Given the description of an element on the screen output the (x, y) to click on. 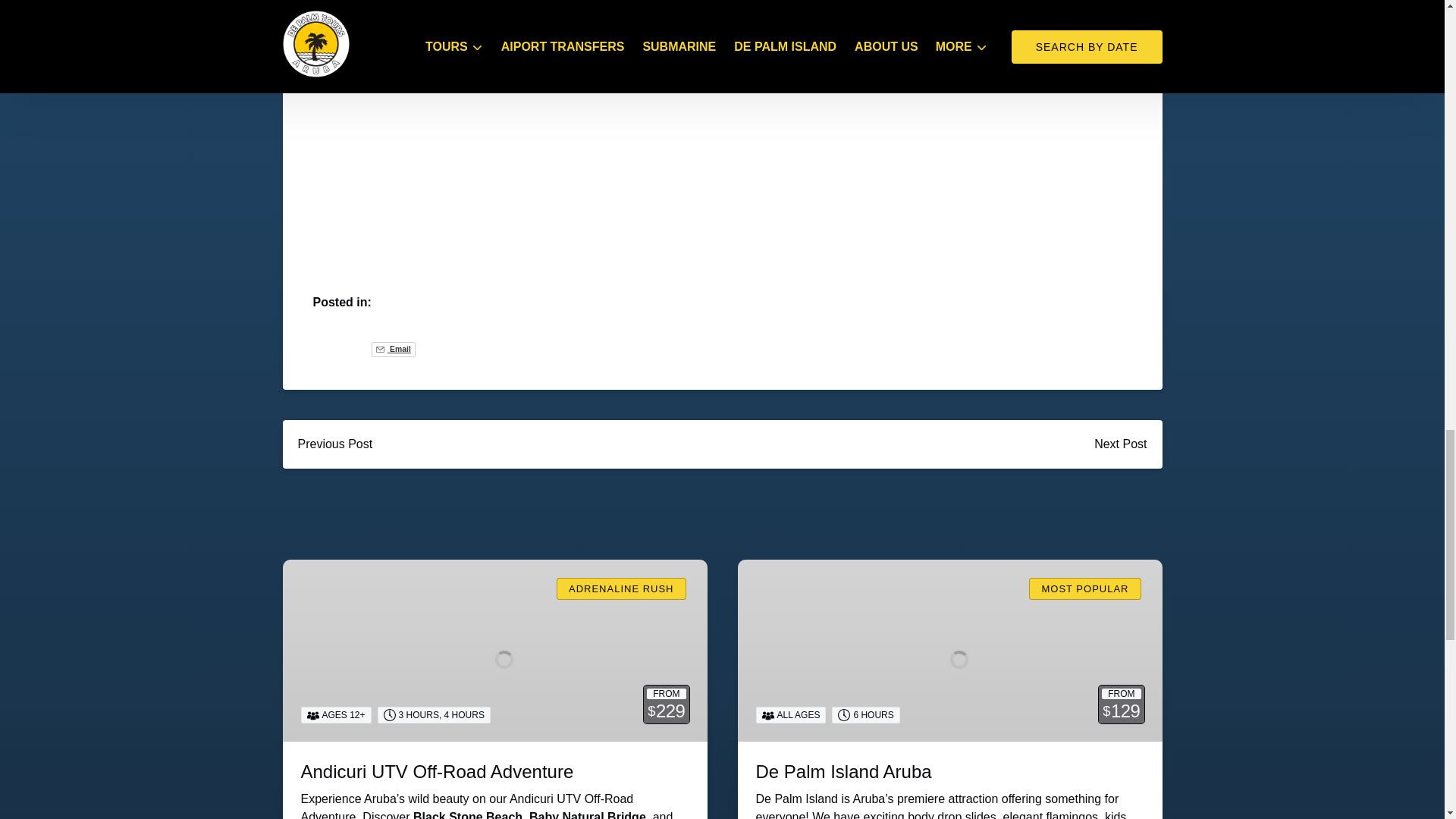
Next Post (1119, 444)
Previous Post (334, 444)
Email (392, 349)
